Given the description of an element on the screen output the (x, y) to click on. 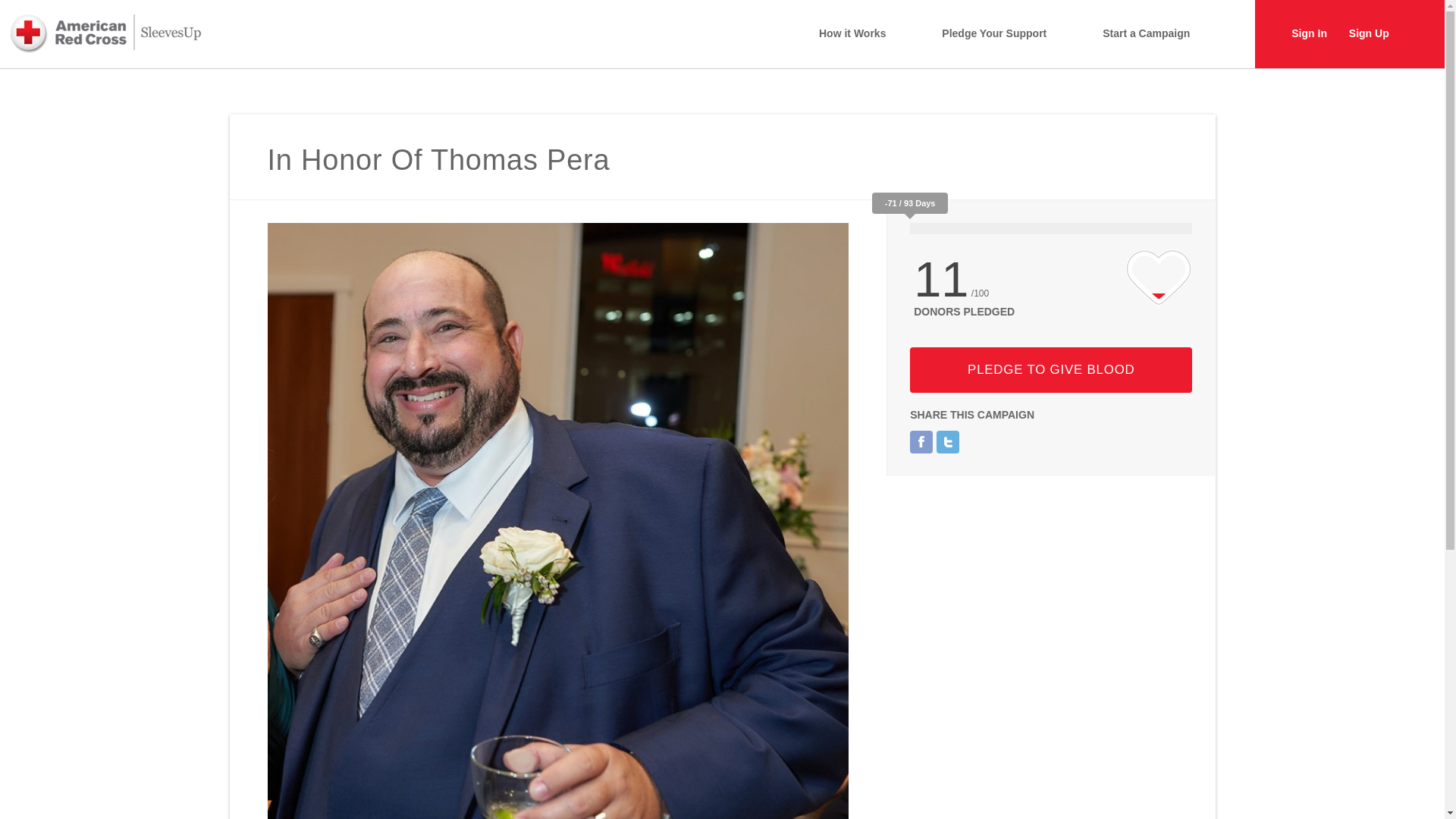
Start a Campaign (1145, 33)
How it Works (851, 33)
PLEDGE TO GIVE BLOOD (1051, 370)
Pledge Your Support (994, 33)
Sign In (1308, 33)
Sign Up (1369, 33)
